Given the description of an element on the screen output the (x, y) to click on. 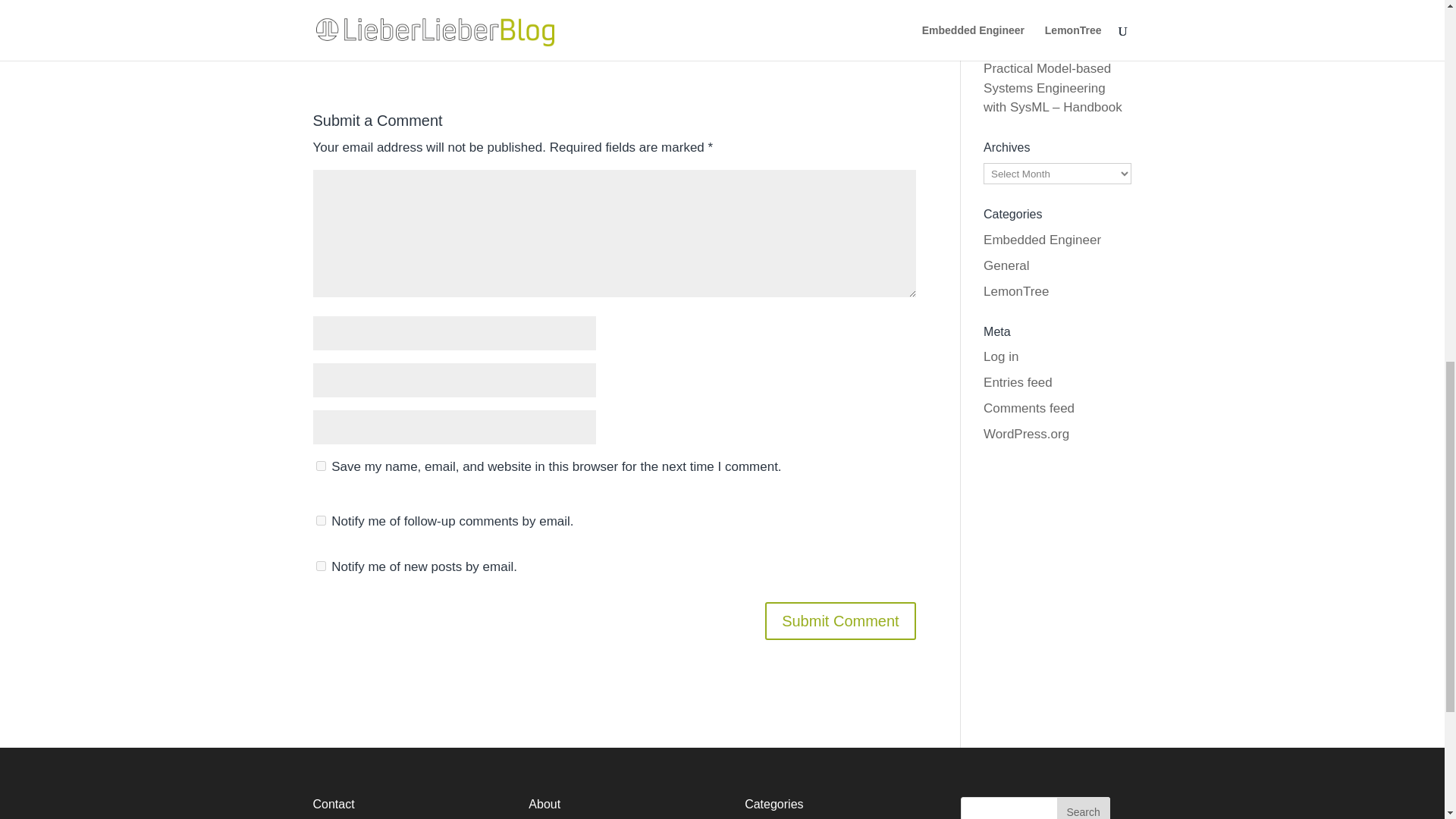
Embedded Engineer (1042, 239)
Submit Comment (840, 620)
Submit Comment (840, 620)
subscribe (319, 520)
General (1006, 265)
Entries feed (1018, 382)
yes (319, 465)
WordPress.org (1026, 433)
subscribe (319, 565)
Search (1083, 807)
